Given the description of an element on the screen output the (x, y) to click on. 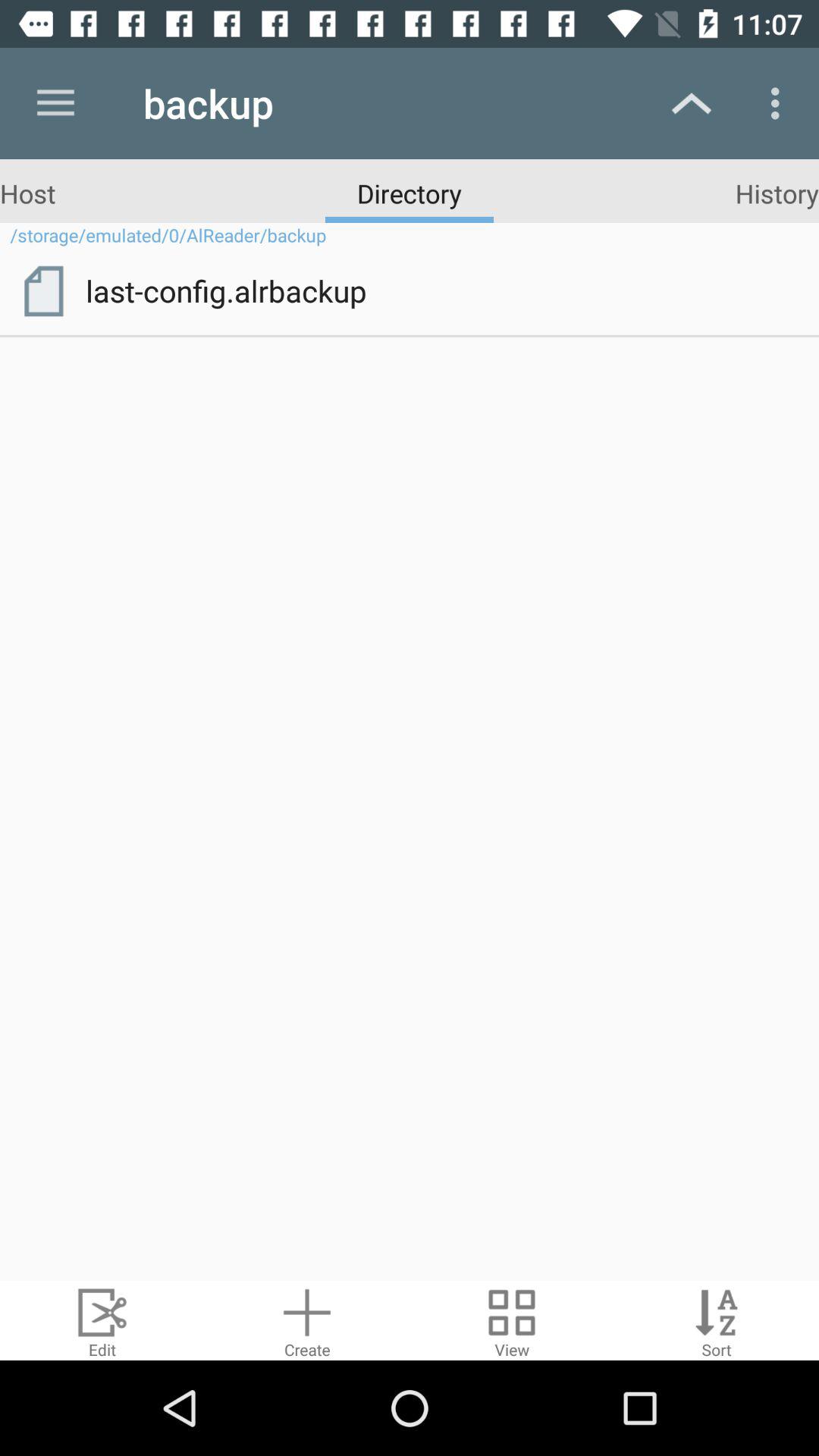
launch item to the left of last-config.alrbackup icon (43, 291)
